Given the description of an element on the screen output the (x, y) to click on. 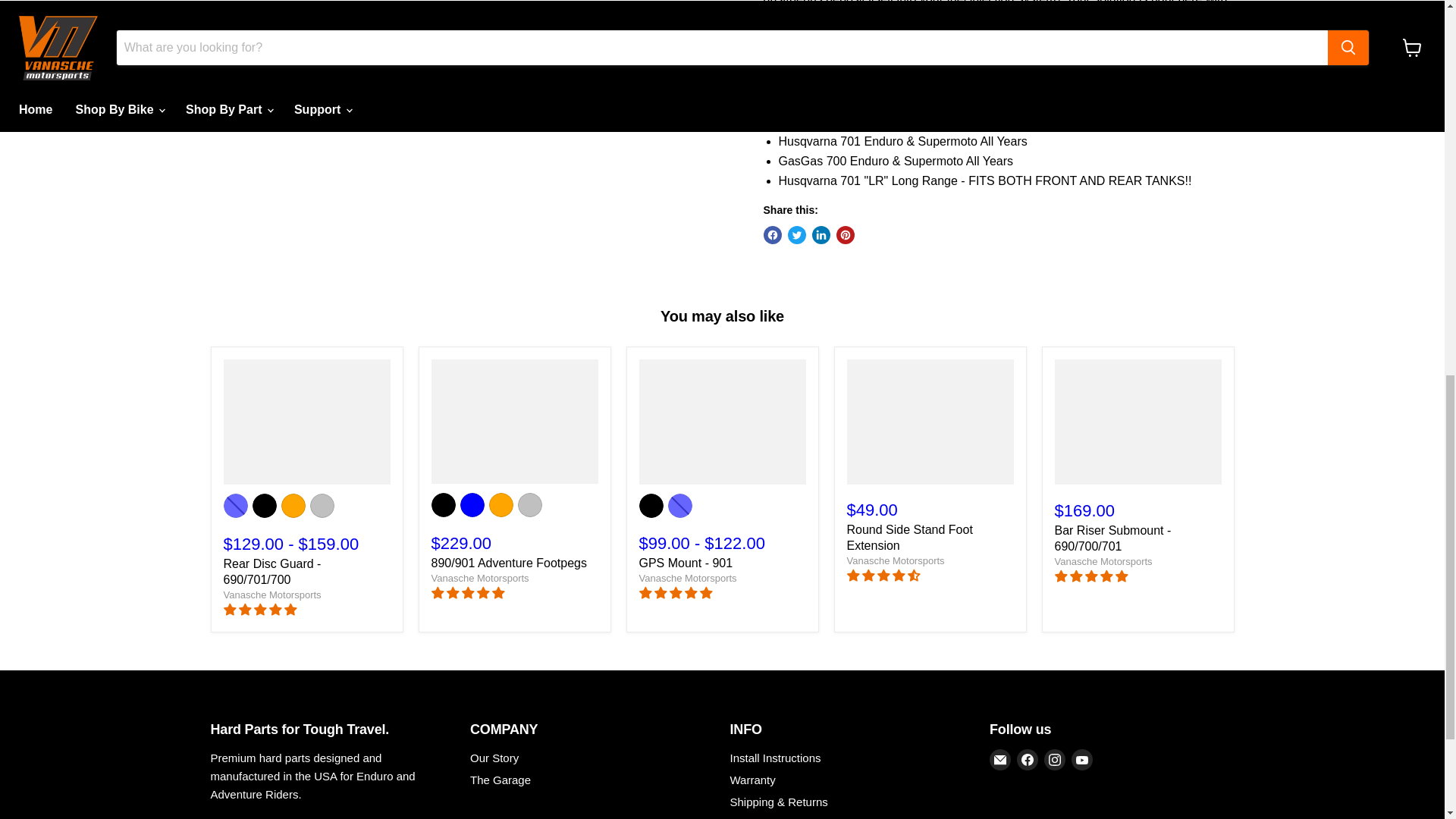
Vanasche Motorsports (479, 577)
Vanasche Motorsports (271, 594)
Email (1000, 759)
Vanasche Motorsports (894, 560)
Vanasche Motorsports (687, 577)
Vanasche Motorsports (1102, 561)
